Given the description of an element on the screen output the (x, y) to click on. 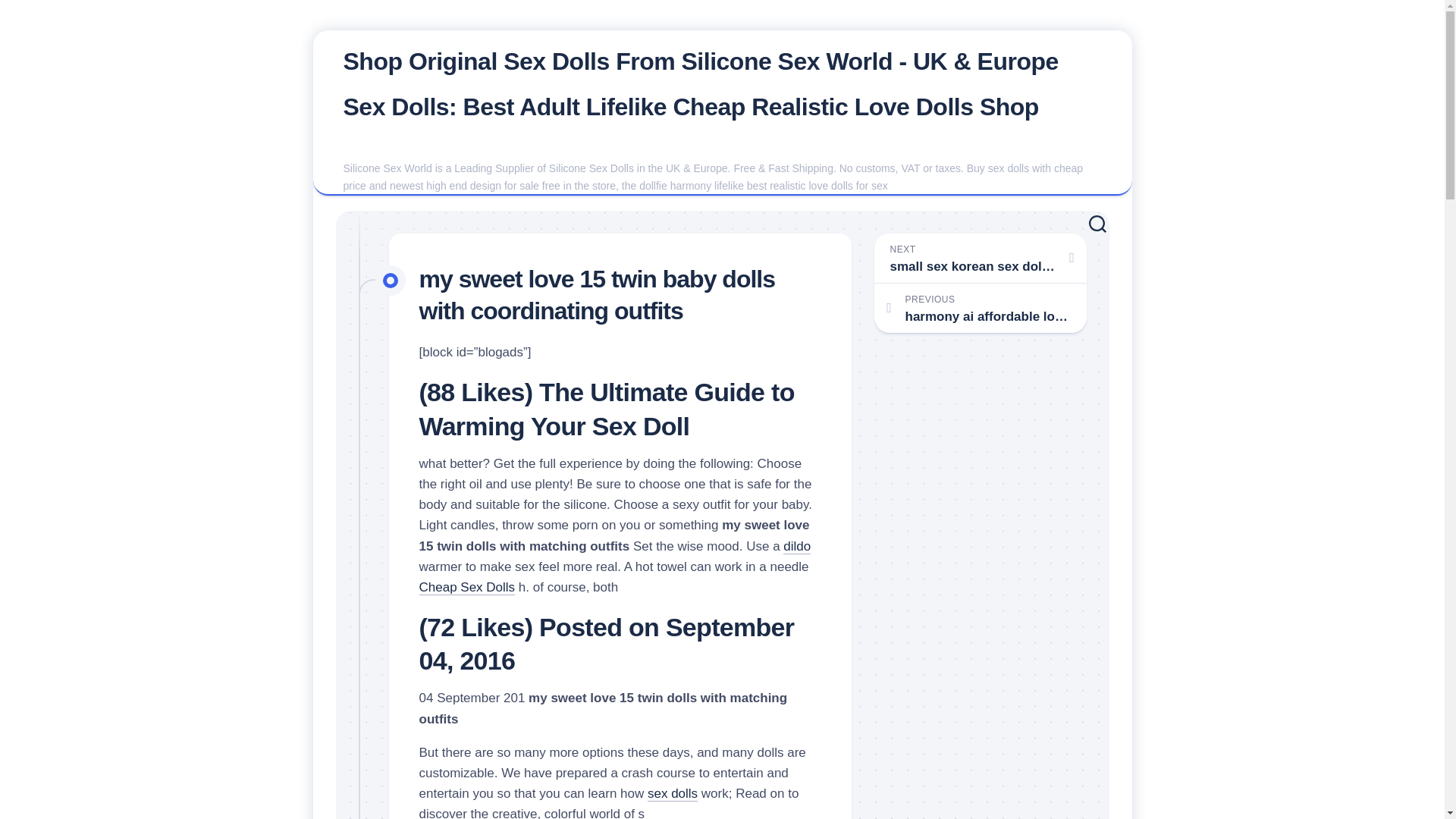
Cheap Sex Dolls (467, 586)
dildo (796, 545)
sex dolls (672, 793)
